Given the description of an element on the screen output the (x, y) to click on. 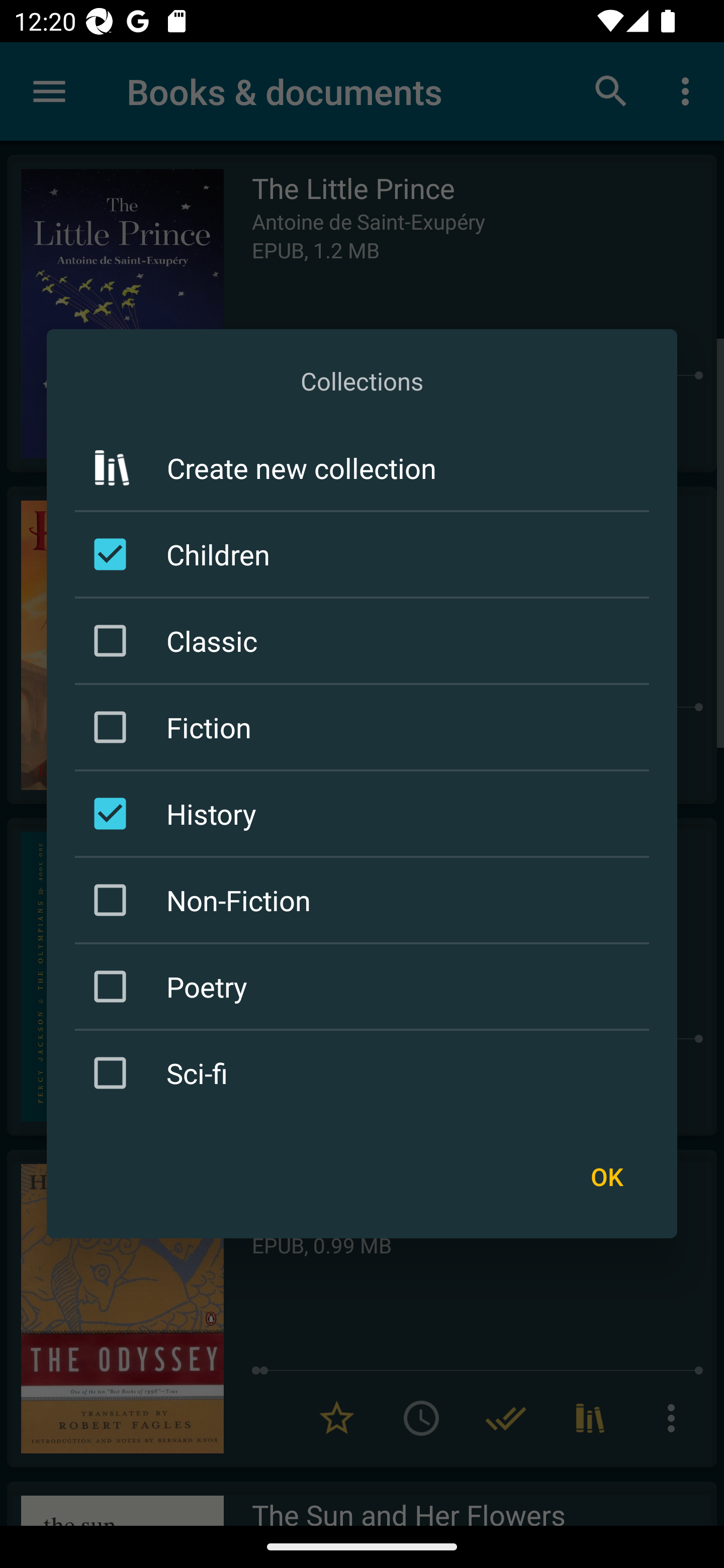
Create new collection (361, 466)
Children (365, 553)
Classic (365, 640)
Fiction (365, 727)
History (365, 813)
Non-Fiction (365, 899)
Poetry (365, 985)
Sci-fi (365, 1072)
OK (606, 1176)
